Given the description of an element on the screen output the (x, y) to click on. 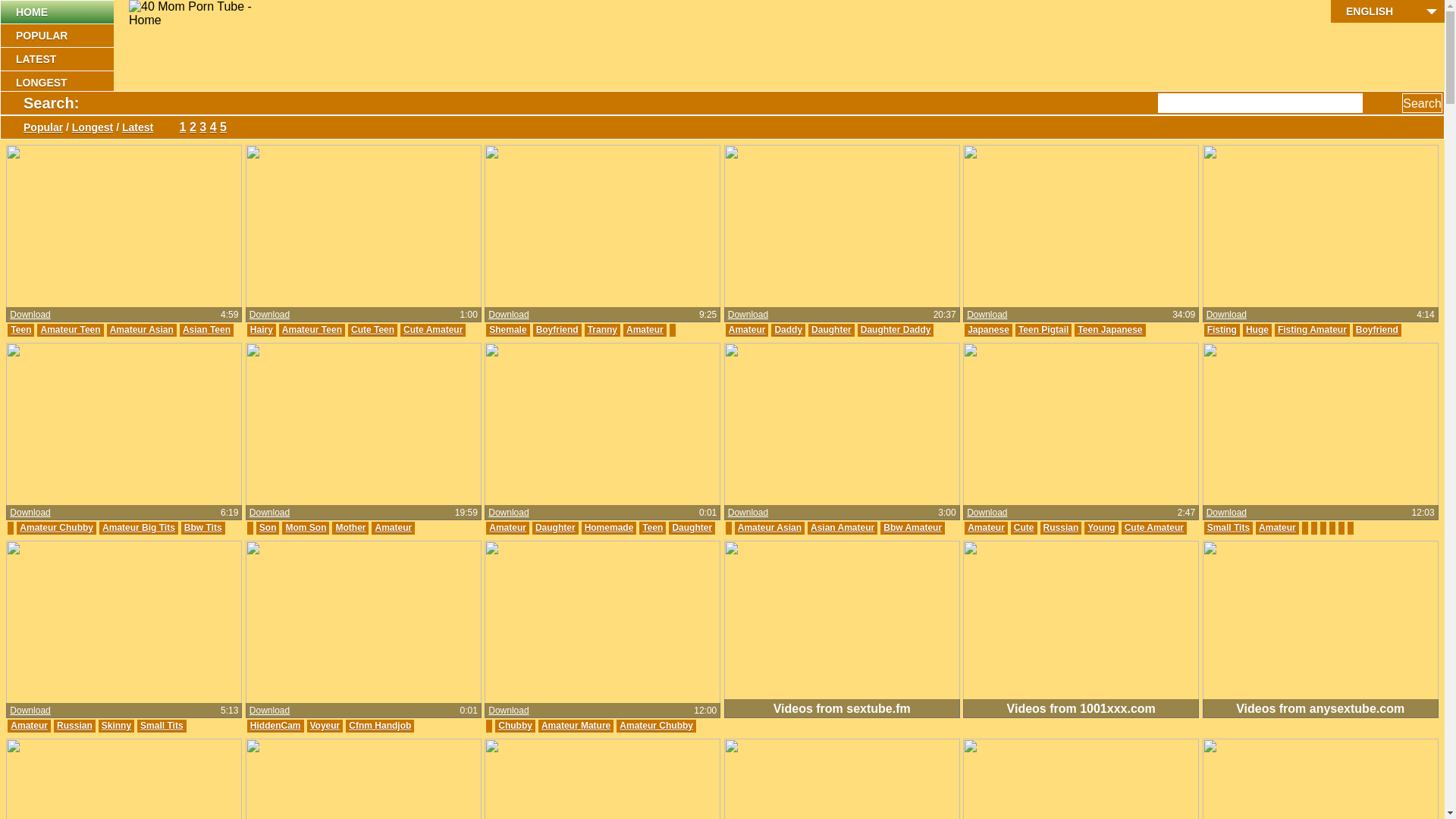
Amateur Element type: text (191, 607)
2 Element type: text (192, 126)
Daughter Daddy Element type: text (895, 329)
Videos from: XHamster Element type: text (300, 545)
Videos from: H2Porn Element type: text (55, 395)
Cute Element type: text (1023, 527)
LATEST Element type: text (56, 58)
Cute Masturbating Element type: text (289, 345)
Tranny Element type: text (602, 329)
Teen Masturbating Element type: text (358, 393)
Mother Element type: text (350, 527)
Download Element type: text (986, 314)
Huge Black Element type: text (1329, 361)
Teen Pigtail Element type: text (1043, 329)
Amateur Element type: text (207, 377)
Big Tits Chubby Element type: text (194, 543)
Amateur Element type: text (985, 393)
Download Element type: text (269, 512)
Daughter Element type: text (555, 527)
Amateur Element type: text (507, 527)
Daughter Element type: text (831, 329)
Cute Amateur Element type: text (432, 329)
Girlfriend Amateur Element type: text (124, 607)
Amateur Element type: text (1381, 361)
Big Tits Bbw Element type: text (37, 559)
Longest Element type: text (92, 127)
Cute Amateur Element type: text (39, 361)
Russian Element type: text (74, 725)
Big Tits Amateur Element type: text (114, 543)
Handjob Amateur Element type: text (526, 757)
5 Element type: text (222, 126)
Big Tits Riding Element type: text (42, 575)
Videos from: XHamster Element type: text (300, 427)
Amateur Chubby Element type: text (656, 725)
Teen Pussy Element type: text (380, 377)
Japanese Milf Element type: text (860, 543)
Cute Asian Element type: text (102, 361)
Videos from 1001xxx.com Element type: text (1080, 629)
4 Element type: text (213, 126)
Riding Tits Element type: text (192, 591)
Boyfriend Element type: text (1376, 329)
Teen Cute Element type: text (31, 377)
Hairy Element type: text (261, 329)
Teen Amateur Element type: text (280, 393)
Download Element type: text (29, 314)
Small Tits Element type: text (1228, 527)
LONGEST Element type: text (56, 82)
Amateur Teen Element type: text (997, 345)
Asian Amateur Element type: text (42, 345)
Videos from anysextube.com Element type: text (1320, 629)
Russian Amateur Element type: text (47, 741)
Amateur Element type: text (1069, 543)
Amateur Big Tits Element type: text (138, 527)
Daddy Element type: text (788, 329)
Download Element type: text (1226, 314)
Cute Teen Element type: text (372, 329)
Amateur Element type: text (112, 741)
Amateur Element type: text (746, 329)
Amateur Teen Element type: text (70, 329)
Teen Japanese Element type: text (1109, 329)
Download Element type: text (748, 314)
Milf Asian Element type: text (839, 559)
3 Element type: text (202, 126)
ENGLISH
X Element type: text (1387, 11)
Japanese Element type: text (988, 329)
Amateur Element type: text (268, 409)
Teen Element type: text (20, 329)
Amateur Asian Element type: text (141, 329)
Amateur Element type: text (1277, 527)
Russian Amateur Element type: text (1004, 543)
Hotel Element type: text (391, 741)
Videos from: Dr Tuber Element type: text (58, 625)
Orgasm Amateur Element type: text (1243, 345)
Pigtail Teen Element type: text (1156, 361)
Amateur Chubby Element type: text (56, 527)
Bbw Milf Element type: text (746, 543)
Popular Element type: text (42, 127)
Voyeur Element type: text (324, 725)
Young Element type: text (1100, 527)
Amateur Asian Element type: text (769, 527)
Download Element type: text (269, 314)
Masturbating Amateur Element type: text (298, 377)
Fisting Amateur Element type: text (1311, 329)
Download Element type: text (748, 512)
Latest Element type: text (137, 127)
Teen Hairy Element type: text (430, 393)
Daddy Element type: text (791, 345)
Asian Teen Element type: text (206, 329)
Big Tits Element type: text (91, 559)
Cute Amateur Element type: text (1153, 527)
Bbw Amateur Element type: text (39, 543)
Amateur Element type: text (832, 345)
Toy Amateur Element type: text (1268, 361)
Riding Chubby Element type: text (42, 607)
Download Element type: text (29, 512)
Asian Amateur Element type: text (842, 527)
Amateur Element type: text (507, 543)
Squirt Orgasm Element type: text (1392, 345)
Hardcore Teen Element type: text (1067, 345)
Amateur Element type: text (28, 725)
Shemale Element type: text (507, 329)
Masturbating Teen Element type: text (381, 361)
Hairy Teen Element type: text (361, 345)
Big Tits Girlfriend Element type: text (155, 559)
Hairy Amateur Element type: text (425, 345)
Son Element type: text (267, 527)
Download Element type: text (508, 710)
Download Element type: text (508, 512)
Amateur Element type: text (644, 329)
Japanese Teen Element type: text (999, 361)
Teen Small Tits Element type: text (168, 361)
Download Element type: text (986, 512)
Daughter Element type: text (691, 527)
Japanese Amateur Element type: text (768, 559)
Chubby Mature Element type: text (522, 741)
Videos from: XHamster Element type: text (778, 577)
Big Tits Amazing Element type: text (120, 575)
HiddenCam Element type: text (275, 725)
Videos from sextube.fm Element type: text (842, 629)
Cheerleader Element type: text (110, 345)
Teen Cute Element type: text (436, 377)
Amateur Element type: text (985, 527)
Amateur Teen Element type: text (312, 329)
Amateur Mature Element type: text (575, 725)
Download Element type: text (508, 314)
Bbw Tits Element type: text (203, 527)
Download Element type: text (269, 710)
Daughter Element type: text (748, 345)
Huge Element type: text (1256, 329)
Search Element type: text (1422, 102)
Homemade Element type: text (609, 527)
Orgasm Squirt Element type: text (1320, 345)
Teen Hardcore Element type: text (1142, 377)
Russian Element type: text (1061, 527)
Chubby Amateur Element type: text (600, 741)
Teen Amateur Element type: text (1072, 377)
Chubby Amateur Element type: text (46, 591)
Amateur Element type: text (888, 559)
Videos from: TnaFlix Element type: text (1251, 379)
Amateur Element type: text (352, 741)
Small Tits Element type: text (161, 725)
Mom Son Element type: text (305, 527)
Bbw Amateur Element type: text (912, 527)
Amateur Element type: text (392, 527)
Teen Amateur Element type: text (92, 377)
Handjob Mature Element type: text (608, 757)
Cfnm Handjob Element type: text (379, 725)
Cute Teen Element type: text (166, 345)
Teen Asian Element type: text (155, 377)
Hardcore Amateur Element type: text (1147, 345)
Skinny Element type: text (116, 725)
POPULAR Element type: text (56, 35)
Teen Small Tits Element type: text (1000, 377)
Download Element type: text (1226, 512)
Chubby Element type: text (515, 725)
Riding Amateur Element type: text (126, 591)
Videos from: Dr Tuber Element type: text (58, 759)
Amateur Element type: text (583, 773)
Bbw Asian Element type: text (797, 543)
Mature Chubby Element type: text (522, 773)
Boyfriend Element type: text (557, 329)
1 Element type: text (182, 126)
Handjob Amateur Element type: text (288, 741)
Hairy Masturbating Element type: text (291, 361)
Videos from: XHamster Element type: text (1017, 411)
Fisting Element type: text (1221, 329)
Japanese Amateur Element type: text (1081, 361)
Pump Element type: text (1219, 361)
Teen Element type: text (652, 527)
Download Element type: text (29, 710)
HOME Element type: text (56, 11)
